Given the description of an element on the screen output the (x, y) to click on. 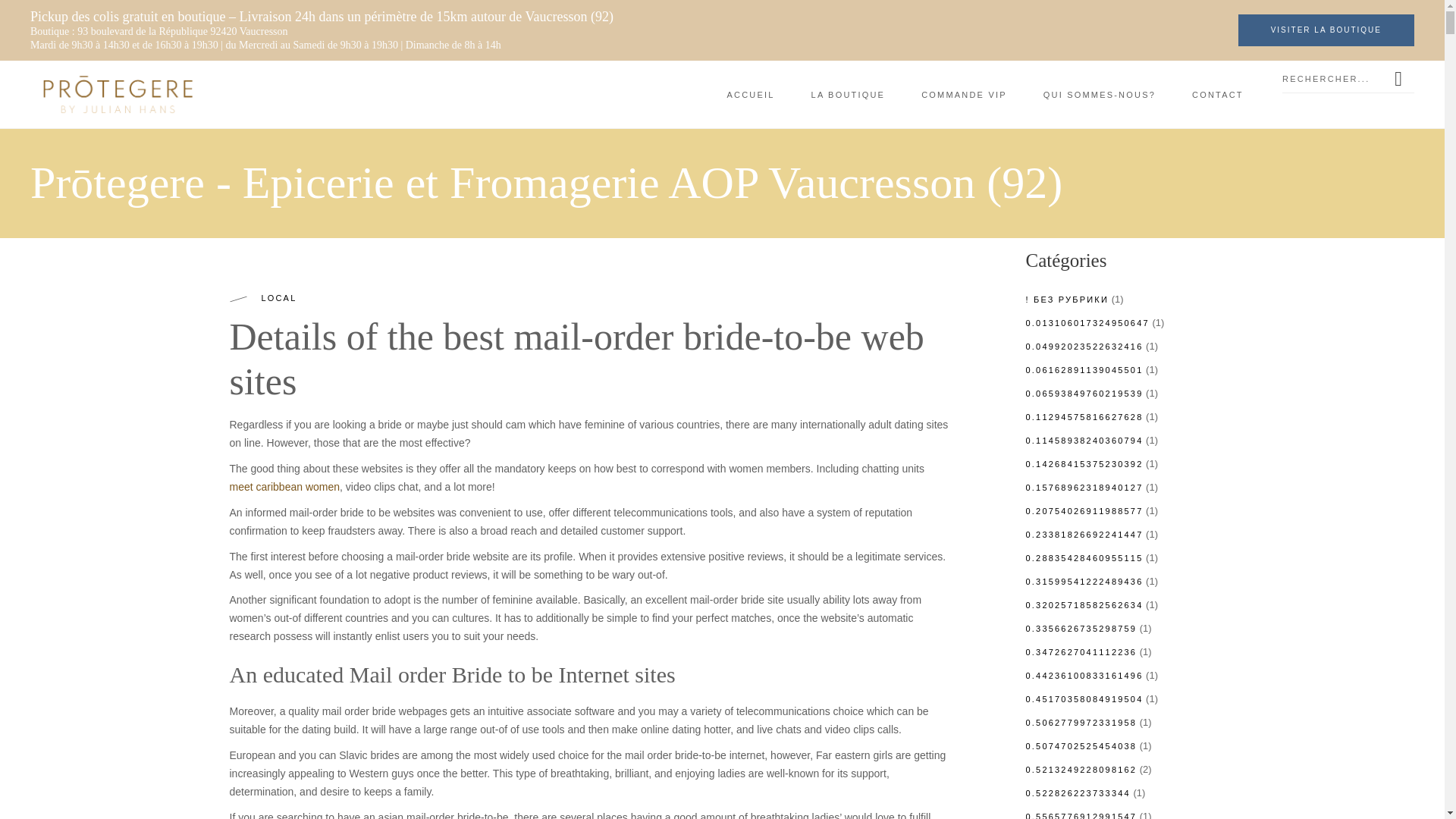
VISITER LA BOUTIQUE (1326, 29)
COMMANDE VIP (963, 93)
CONTACT (1217, 93)
ACCUEIL (749, 93)
Search for: (1334, 78)
QUI SOMMES-NOUS? (1099, 93)
LA BOUTIQUE (848, 93)
